Given the description of an element on the screen output the (x, y) to click on. 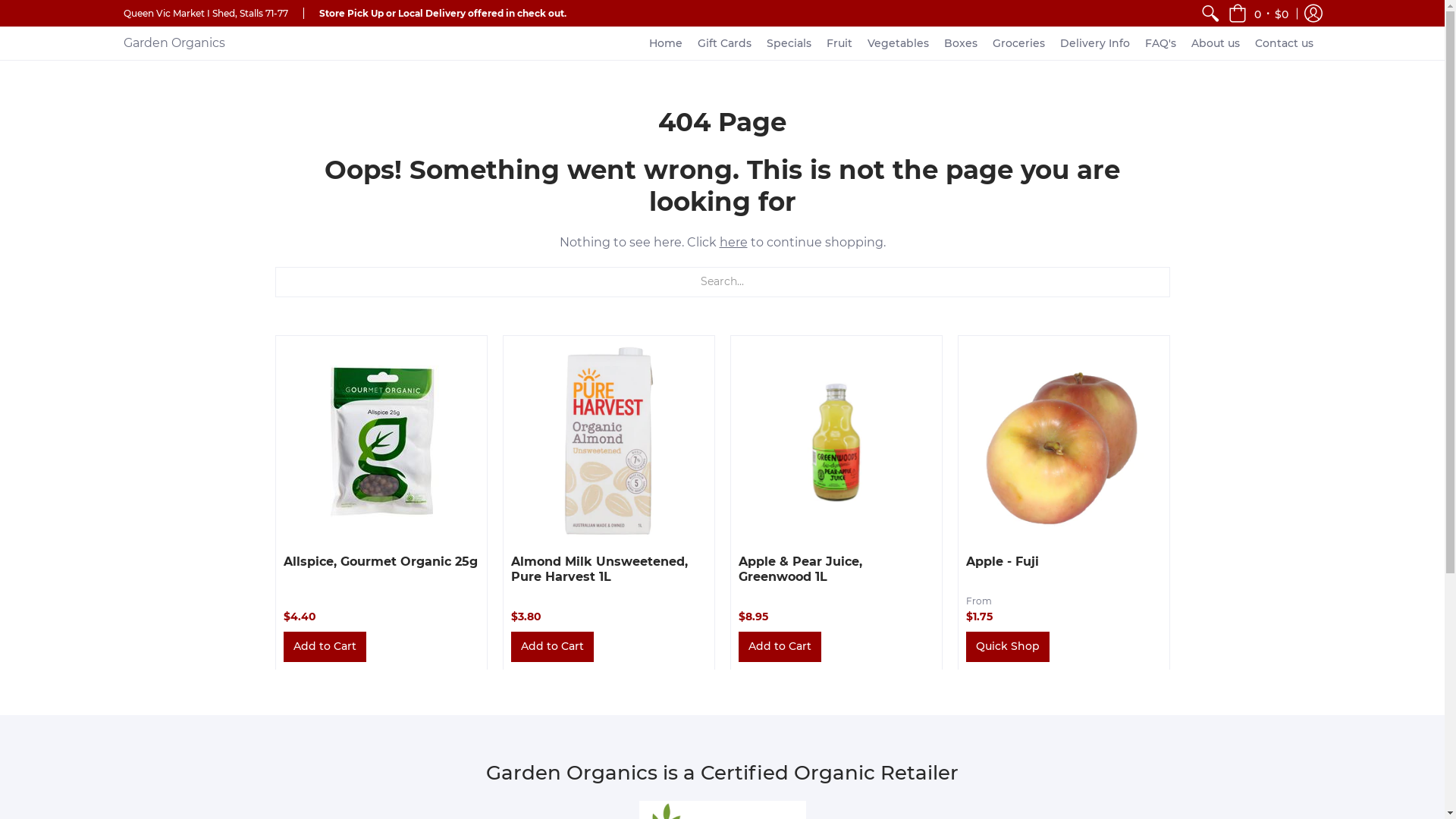
Buy Apple - Fuji Element type: hover (1063, 440)
Gift Cards Element type: text (724, 42)
FAQ's Element type: text (1160, 42)
Almond Milk Unsweetened, Pure Harvest 1L Element type: text (599, 568)
Log in Element type: hover (1312, 13)
Buy Allspice, Gourmet Organic 25g Element type: hover (381, 440)
Add to Cart Element type: text (552, 645)
Vegetables Element type: text (897, 42)
Add to Cart Element type: text (324, 645)
Add to Cart Element type: text (779, 645)
Specials Element type: text (789, 42)
Contact us Element type: text (1284, 42)
Apple & Pear Juice, Greenwood 1L Element type: text (800, 568)
Groceries Element type: text (1018, 42)
Apple - Fuji Element type: text (1002, 560)
About us Element type: text (1215, 42)
Quick Shop Element type: text (1007, 645)
Garden Organics Element type: text (173, 42)
here Element type: text (732, 242)
Boxes Element type: text (960, 42)
Search Element type: hover (1209, 13)
Home Element type: text (665, 42)
Buy Apple & Pear Juice, Greenwood 1L Element type: hover (836, 440)
Delivery Info Element type: text (1094, 42)
Allspice, Gourmet Organic 25g Element type: text (380, 560)
Buy Almond Milk Unsweetened, Pure Harvest 1L Element type: hover (608, 440)
Fruit Element type: text (839, 42)
